Given the description of an element on the screen output the (x, y) to click on. 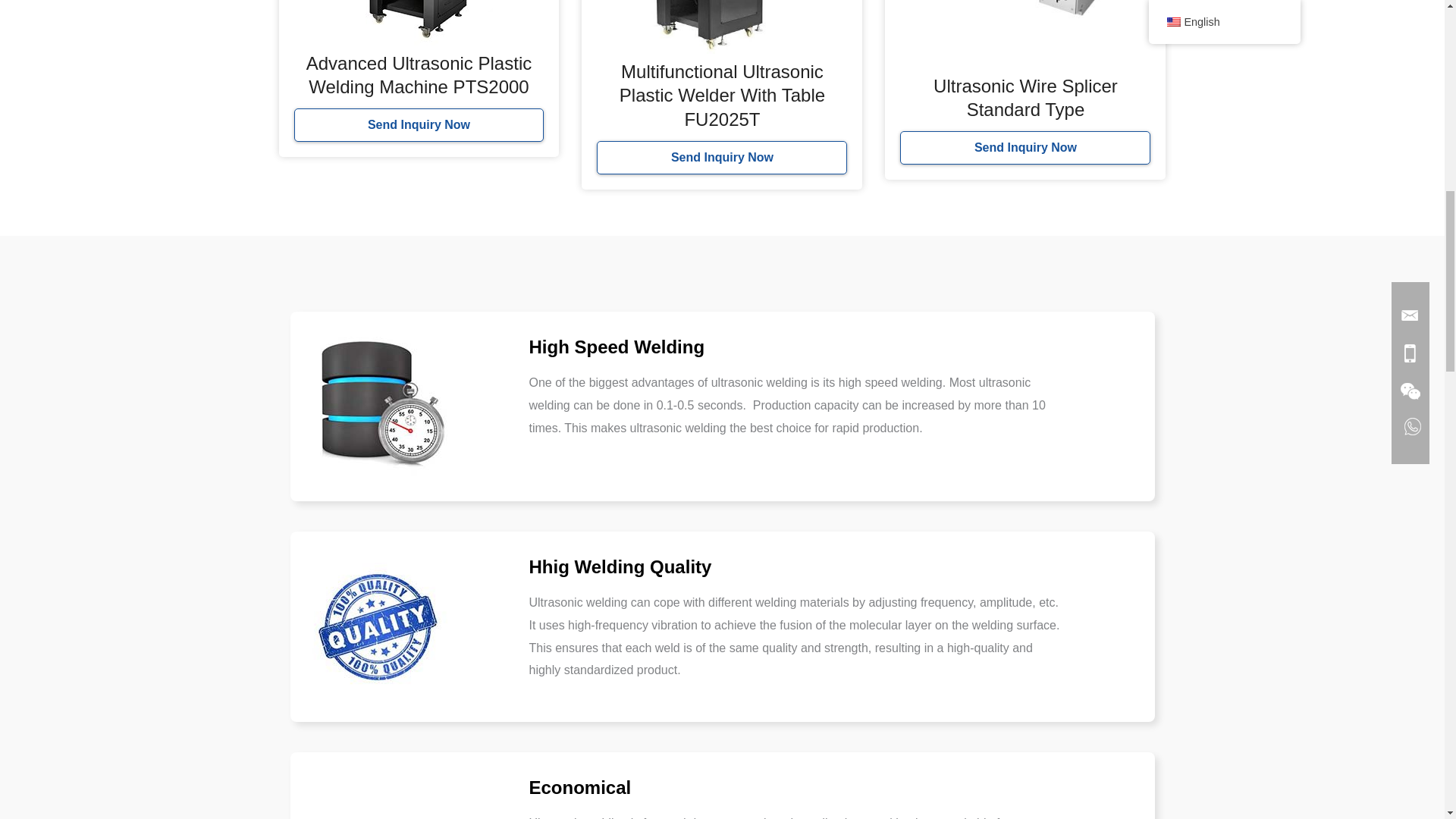
Send Inquiry Now (419, 124)
Advanced Ultrasonic Plastic Welding Machine PTS2000 (418, 75)
